Given the description of an element on the screen output the (x, y) to click on. 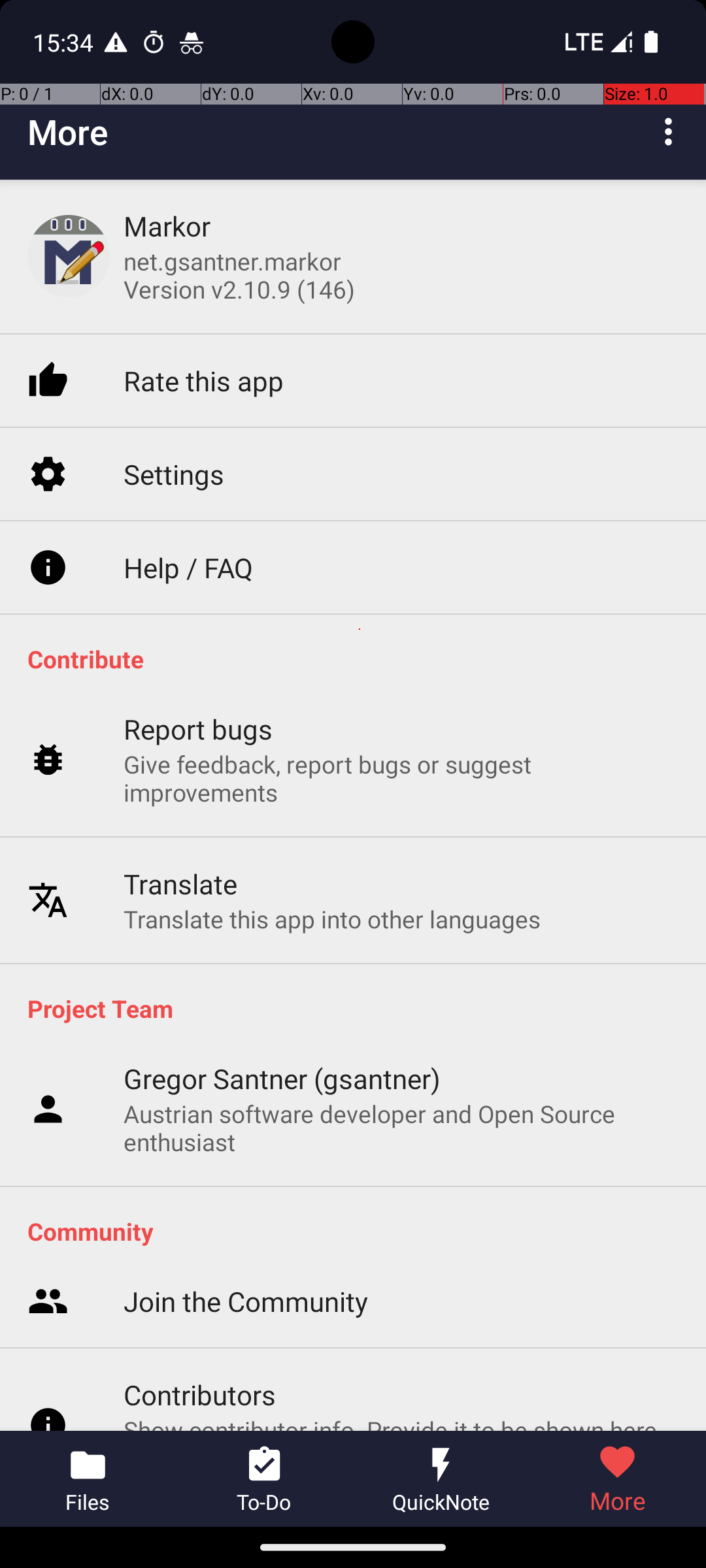
Project Team Element type: android.widget.TextView (359, 970)
Community Element type: android.widget.TextView (359, 1107)
Translate this app into other languages Element type: android.widget.TextView (331, 881)
Gregor Santner (gsantner) Element type: android.widget.TextView (281, 1077)
Austrian software developer and Open Source enthusiast Element type: android.widget.TextView (400, 1127)
Join the Community Element type: android.widget.TextView (245, 1177)
Contributors Element type: android.widget.TextView (199, 1270)
Show contributor info. Provide it to be shown here on an opt-in basis after contributing Element type: android.widget.TextView (400, 1319)
